Given the description of an element on the screen output the (x, y) to click on. 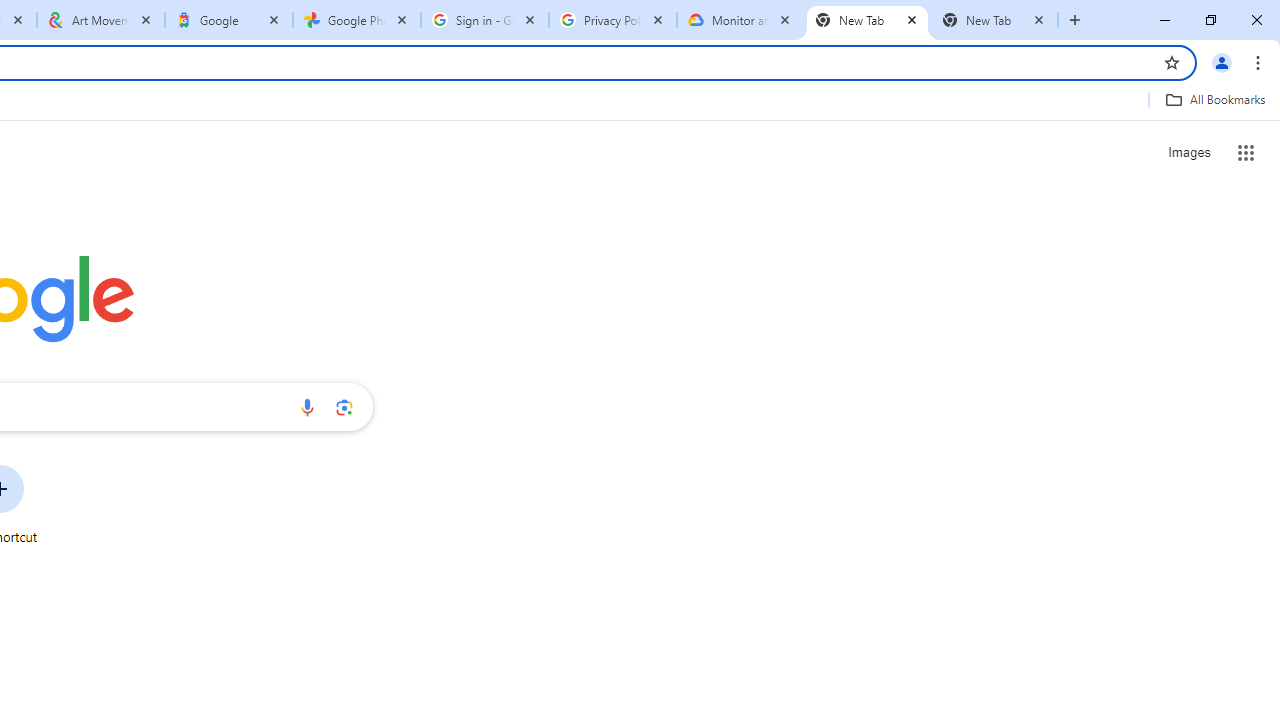
Google (229, 20)
